Given the description of an element on the screen output the (x, y) to click on. 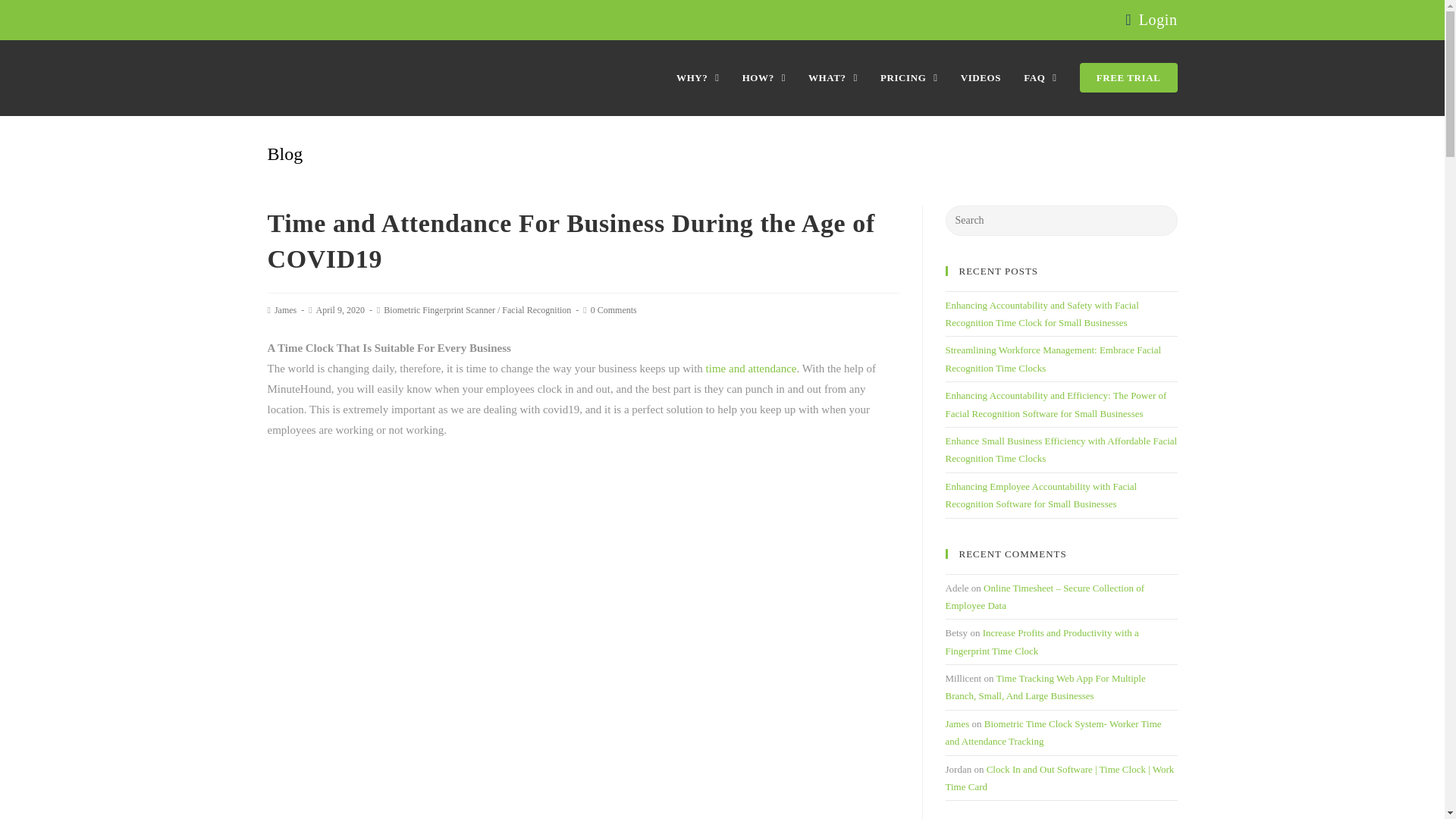
WHAT? (832, 78)
Facial Recognition (536, 309)
FREE TRIAL (1128, 78)
Posts by James (286, 309)
time and attendance (751, 368)
Login (1157, 19)
PRICING (909, 78)
VIDEOS (980, 78)
FAQ (1039, 78)
0 Comments (614, 309)
HOW? (763, 78)
Biometric Fingerprint Scanner (439, 309)
James (286, 309)
WHY? (697, 78)
